Given the description of an element on the screen output the (x, y) to click on. 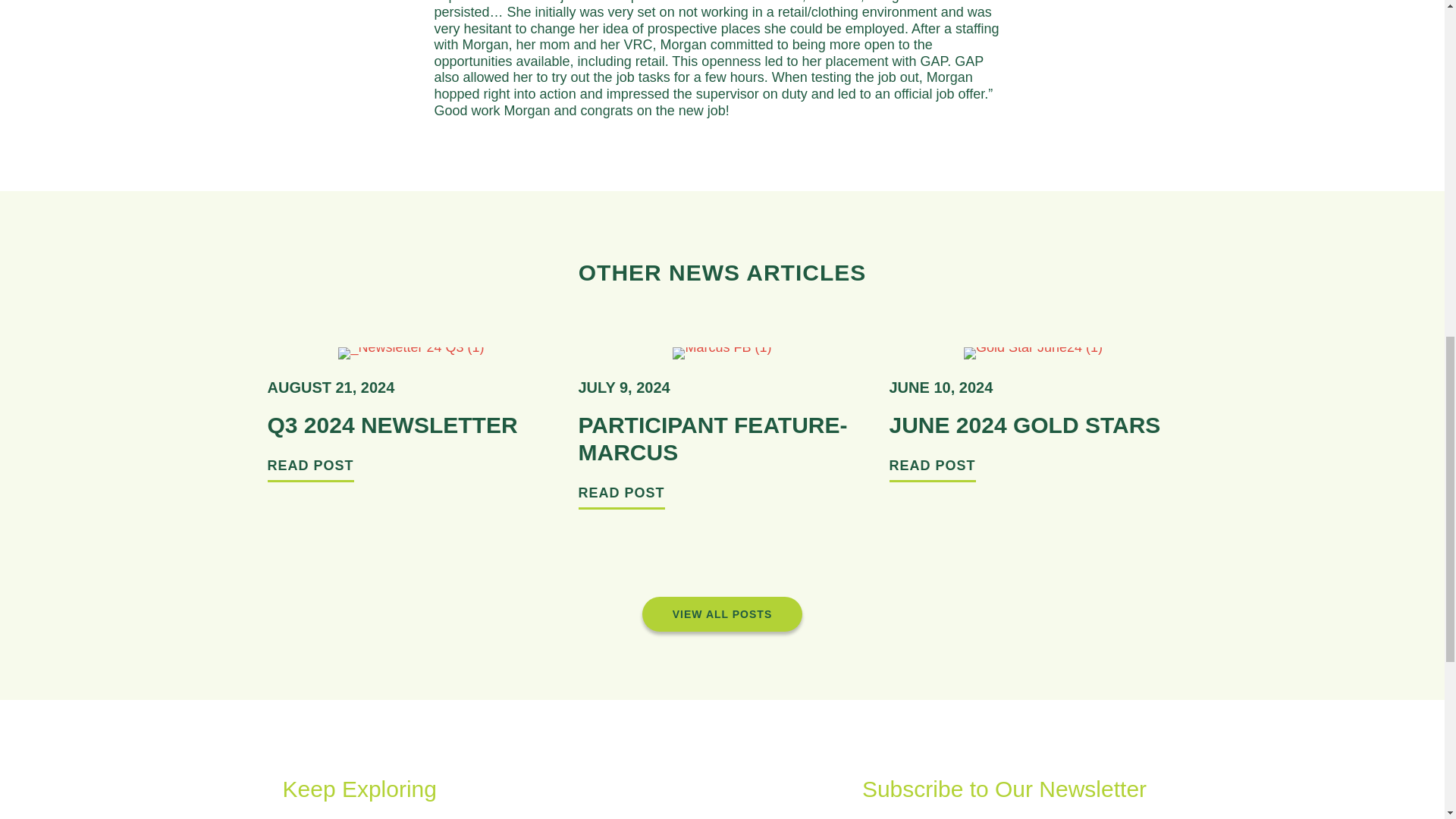
VIEW ALL POSTS (309, 469)
PARTICIPANT FEATURE- MARCUS (722, 614)
Participant Feature- Marcus (712, 438)
Q3 2024 Newsletter (620, 497)
Q3 2024 NEWSLETTER (931, 469)
June 2024 Gold Stars (391, 424)
Q3 2024 Newsletter (620, 497)
